Given the description of an element on the screen output the (x, y) to click on. 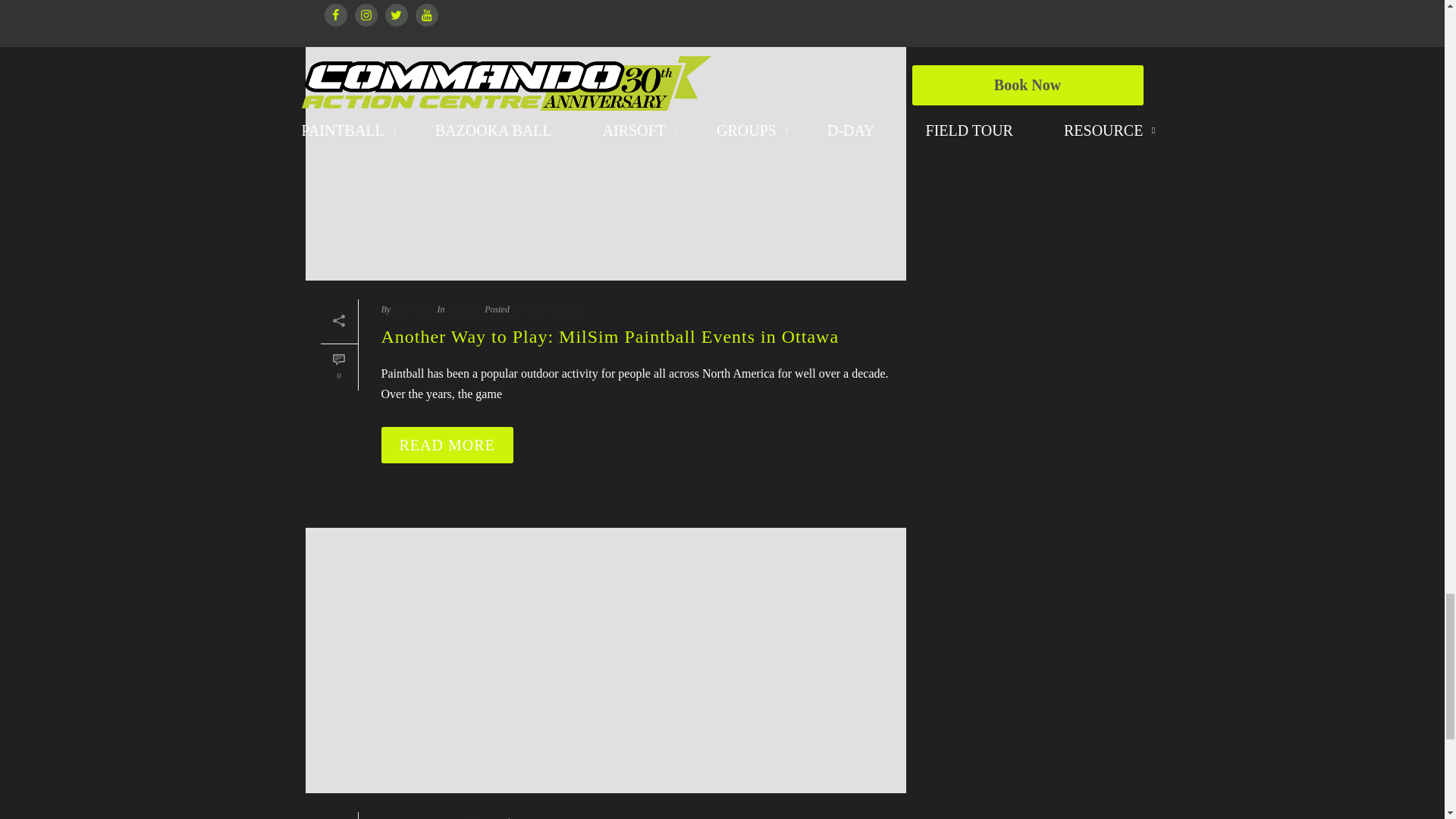
READ MORE (446, 577)
READ MORE (446, 84)
